Given the description of an element on the screen output the (x, y) to click on. 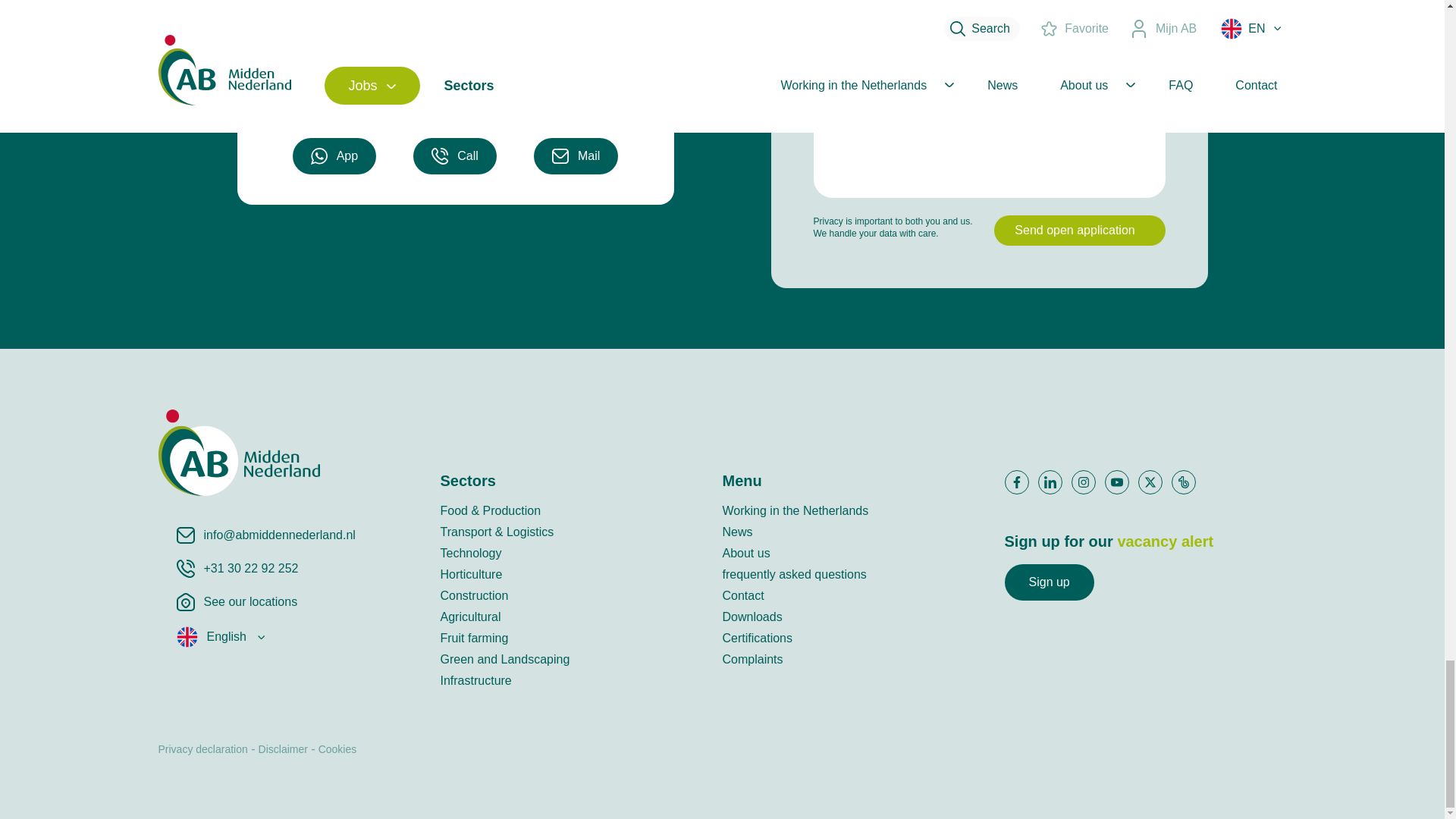
Mail (575, 156)
Call (454, 156)
App (333, 156)
